Given the description of an element on the screen output the (x, y) to click on. 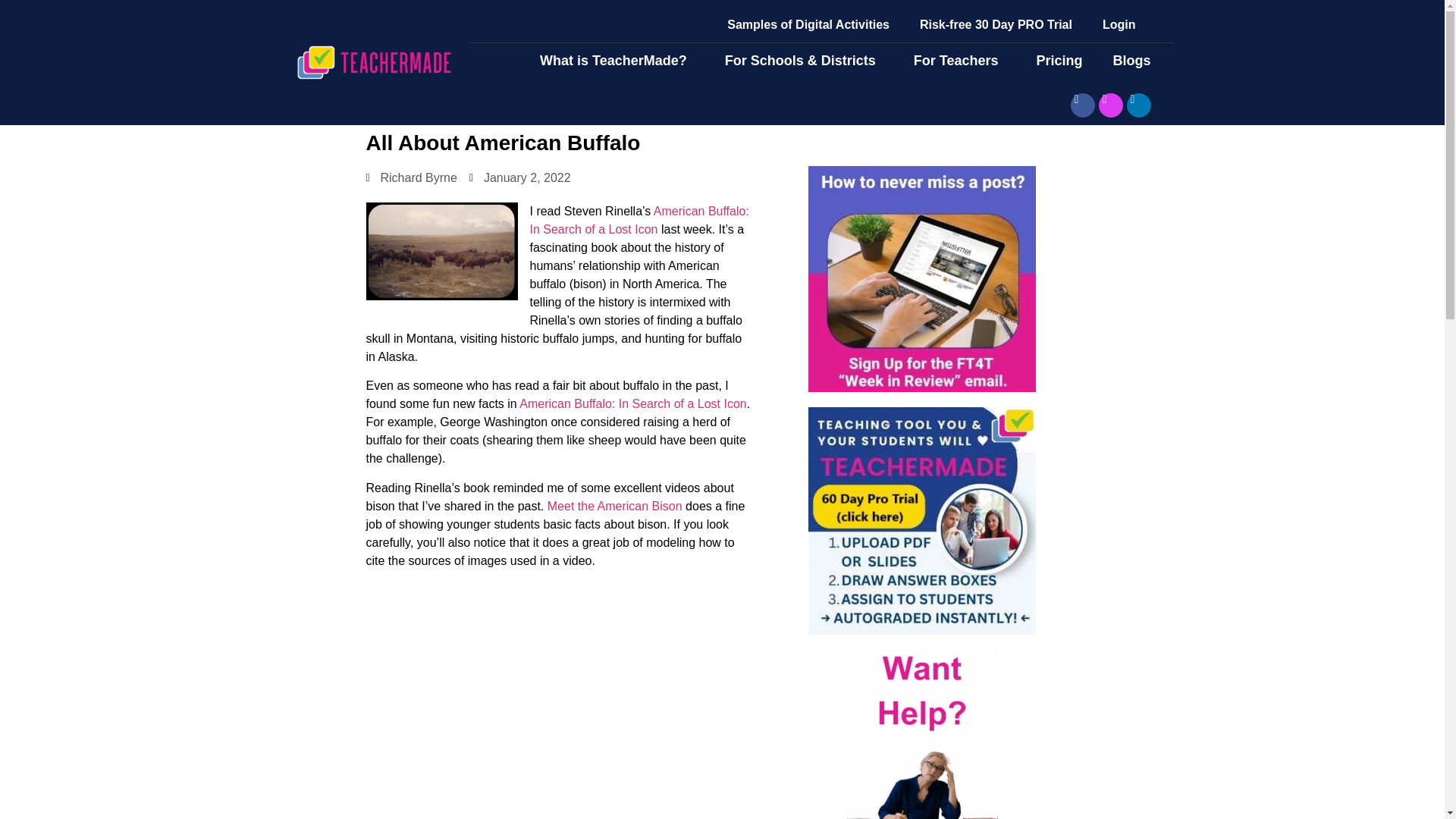
What is TeacherMade? (617, 60)
Pricing (1058, 60)
Risk-free 30 Day PRO Trial (995, 24)
For Teachers (960, 60)
Samples of Digital Activities (807, 24)
Login (1119, 24)
Blogs (1135, 60)
